Given the description of an element on the screen output the (x, y) to click on. 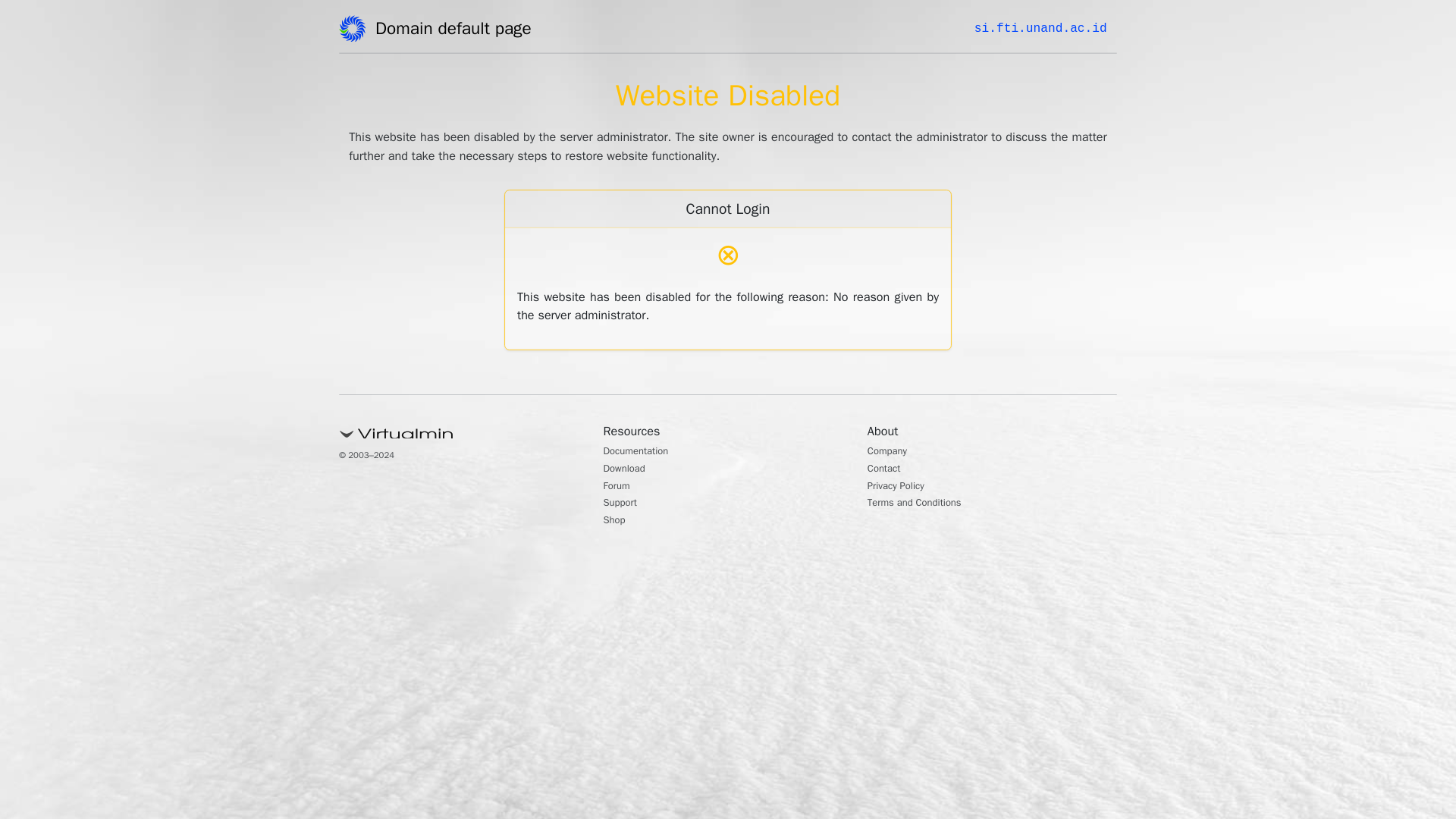
Shop (617, 521)
Forum (620, 487)
Company (891, 452)
Documentation (644, 452)
Download (629, 469)
Domain default page (457, 31)
Terms and Conditions (925, 503)
Support (624, 503)
Contact (887, 469)
Privacy Policy (902, 487)
